Given the description of an element on the screen output the (x, y) to click on. 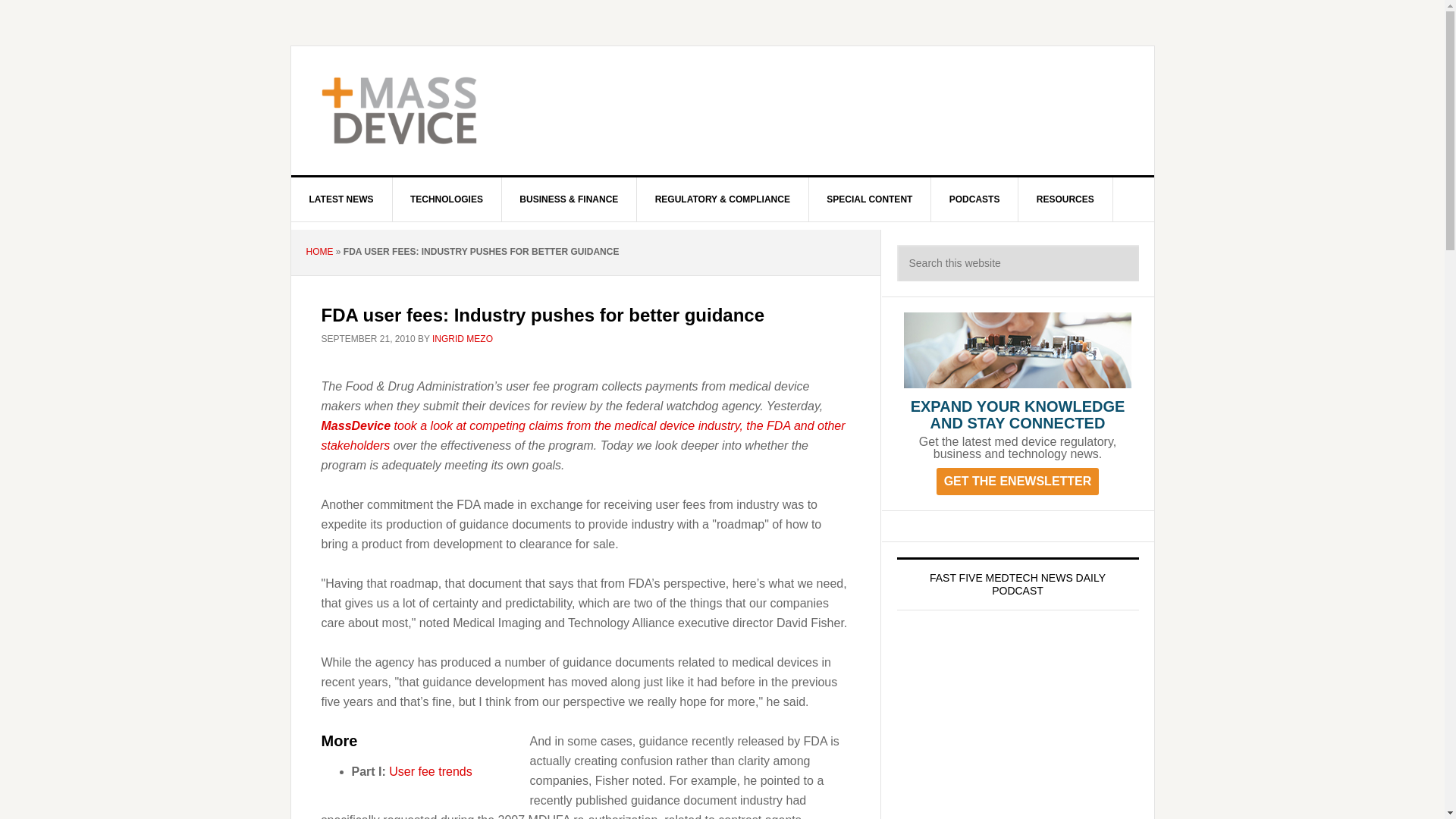
TECHNOLOGIES (446, 199)
MassDevice.com features (583, 435)
SPECIAL CONTENT (869, 199)
PODCASTS (975, 199)
MASSDEVICE (419, 110)
LATEST NEWS (342, 199)
